Given the description of an element on the screen output the (x, y) to click on. 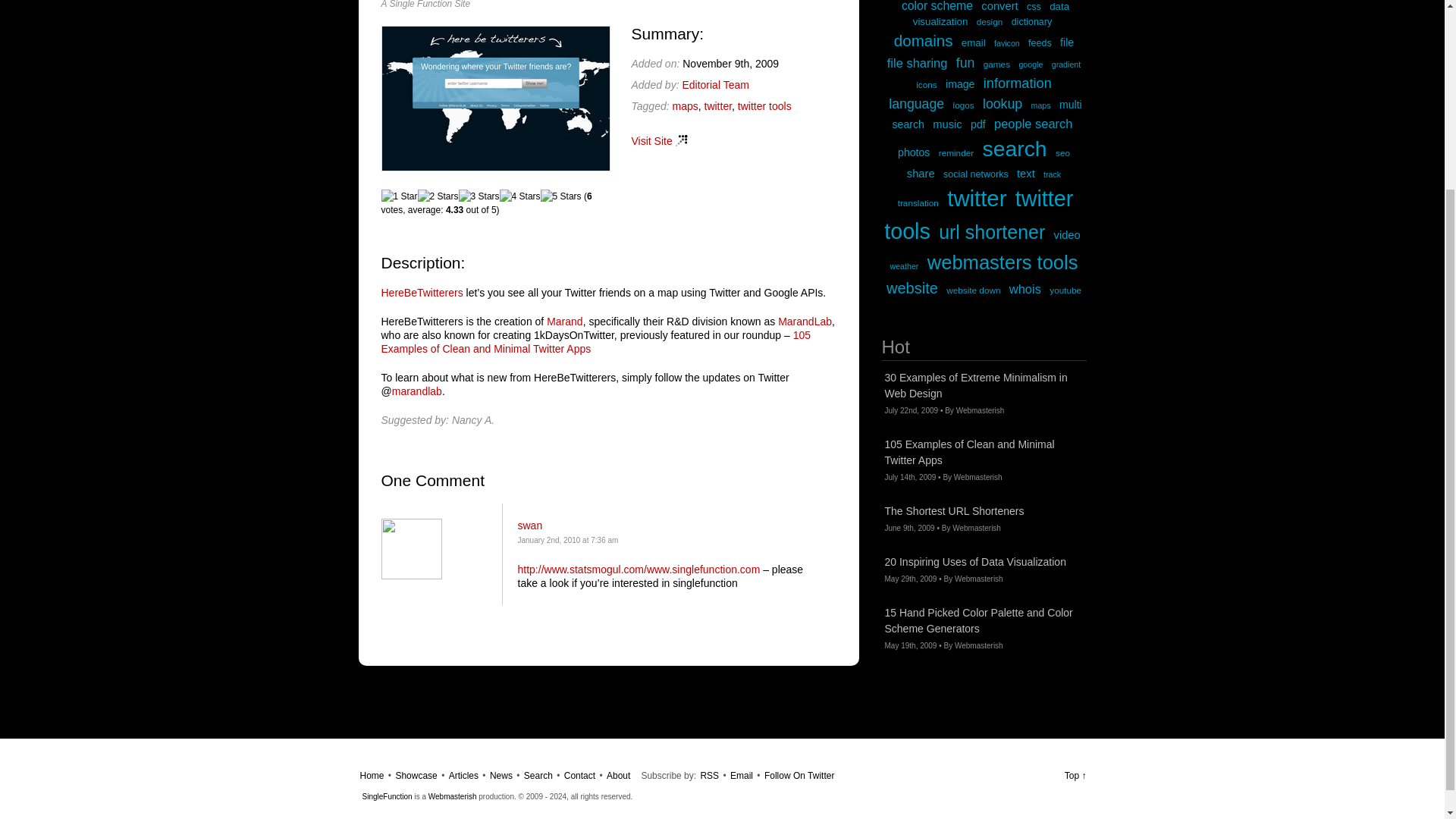
3 Stars (478, 196)
favicon (1007, 42)
css (1033, 6)
Editorial Team (714, 84)
Follow SingleFunction on Twitter! (799, 775)
swan (528, 525)
Posts by Editorial Team (714, 84)
2 Stars (437, 196)
google (1029, 64)
twitter tools (765, 105)
Visit HereBeTwitterers (495, 167)
Visit HereBeTwitterers (658, 141)
Marand (564, 321)
games (996, 63)
twitter (717, 105)
